Given the description of an element on the screen output the (x, y) to click on. 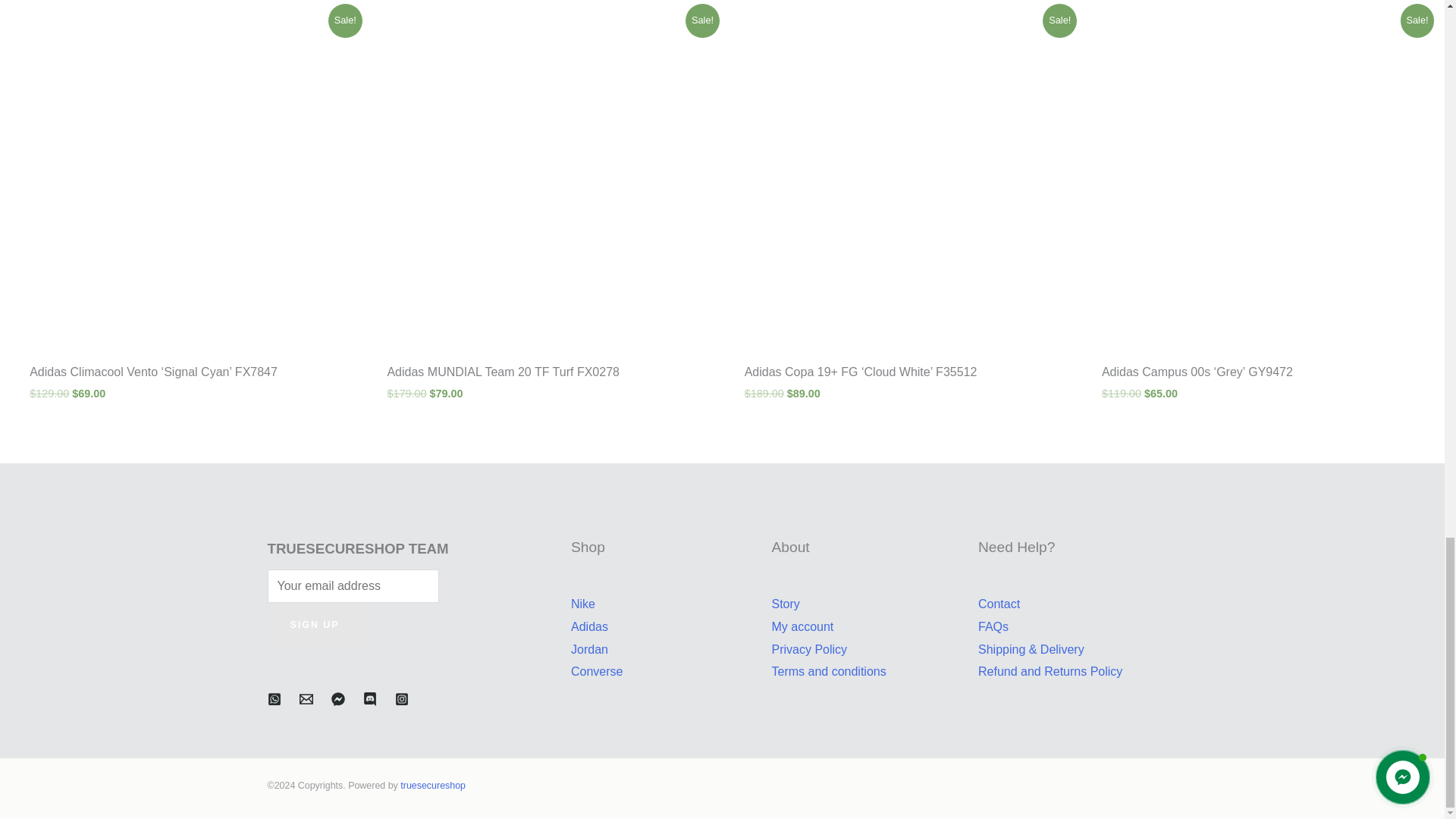
Sign up (313, 624)
Adidas Campus 00s 'Grey' GY9472 - Shop Now for Classic Style (1258, 180)
